Given the description of an element on the screen output the (x, y) to click on. 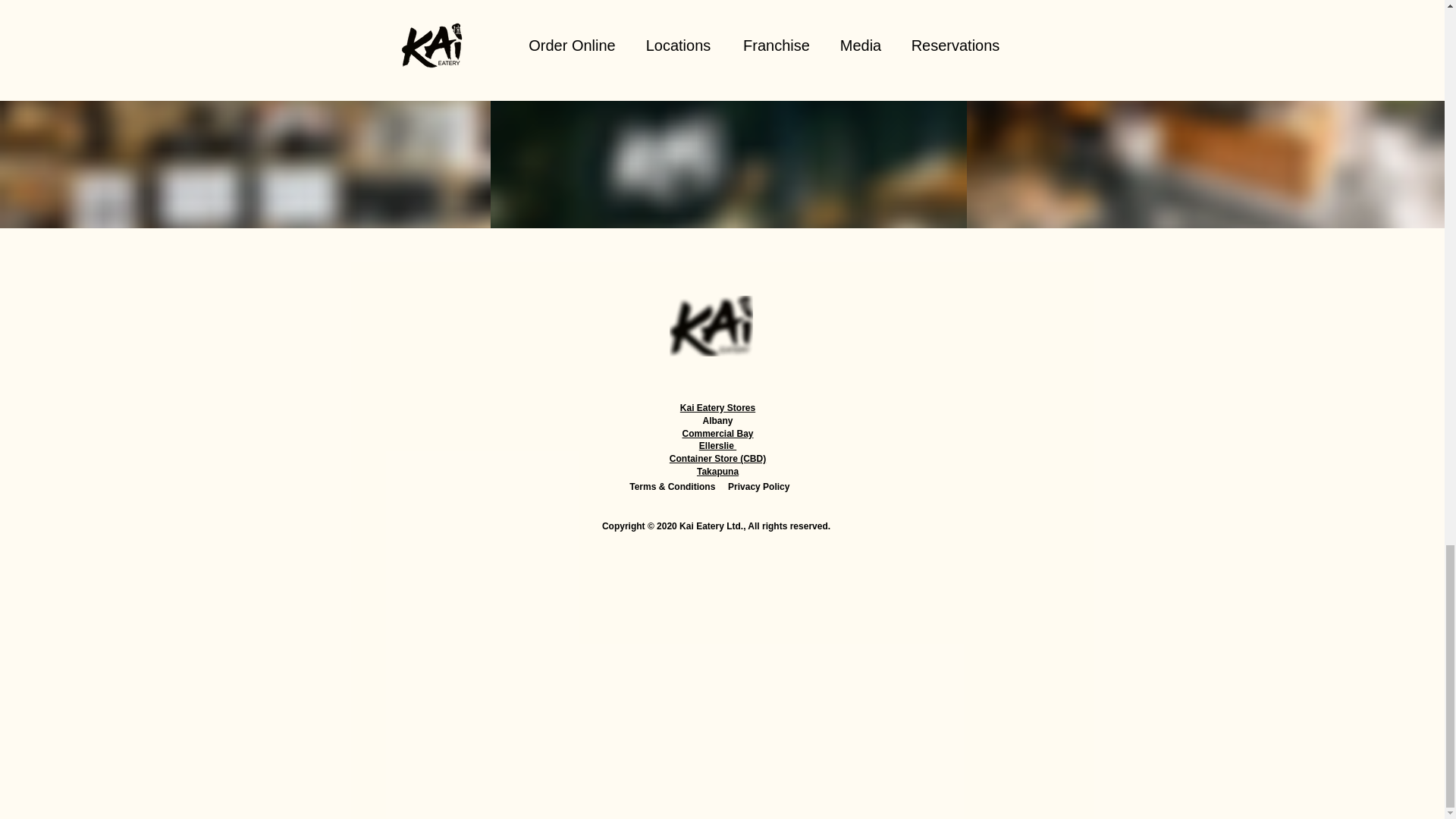
Ellerslie  (717, 445)
Privacy Policy (758, 486)
Takapuna (717, 471)
Commercial Bay (716, 433)
Kai Eatery Stores (717, 407)
